Given the description of an element on the screen output the (x, y) to click on. 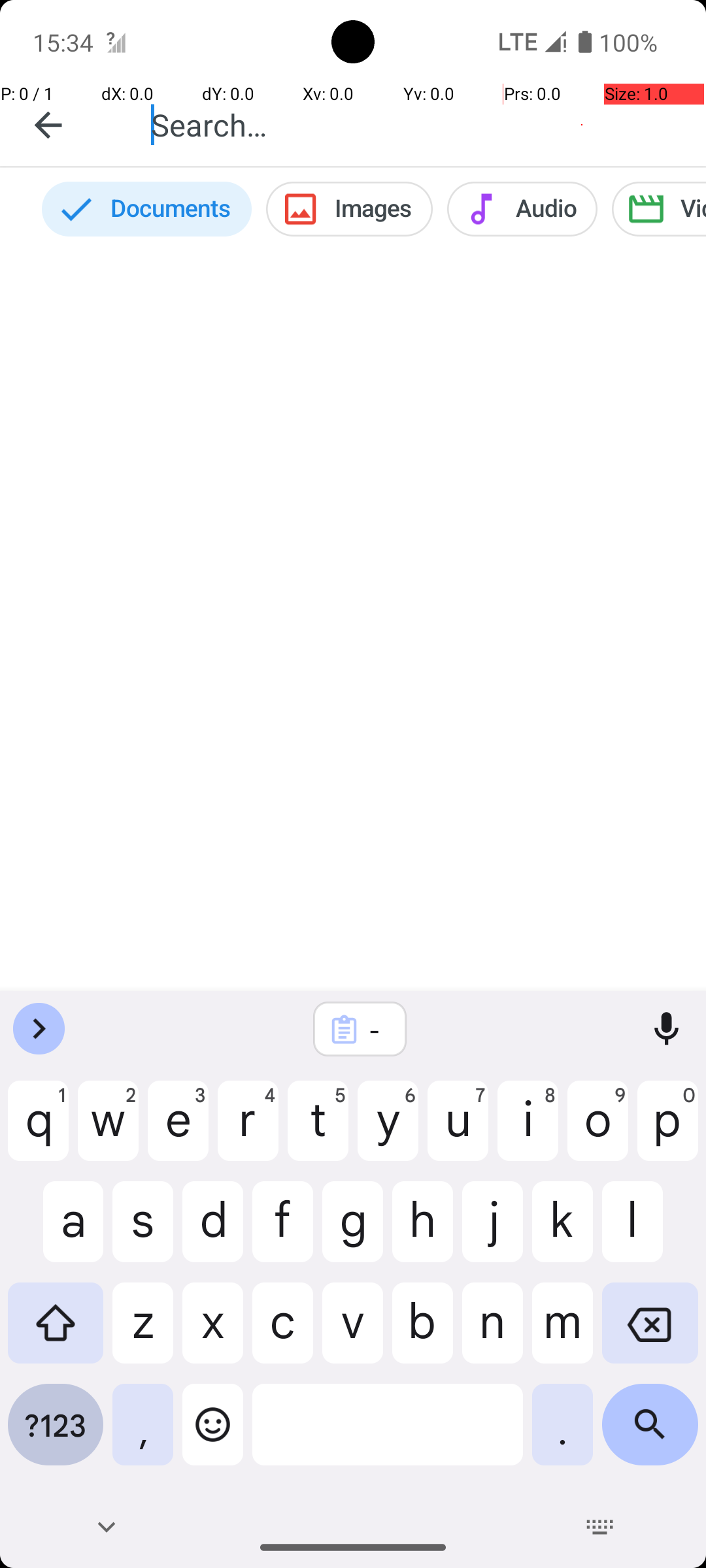
-  Element type: android.widget.TextView (376, 1029)
